Given the description of an element on the screen output the (x, y) to click on. 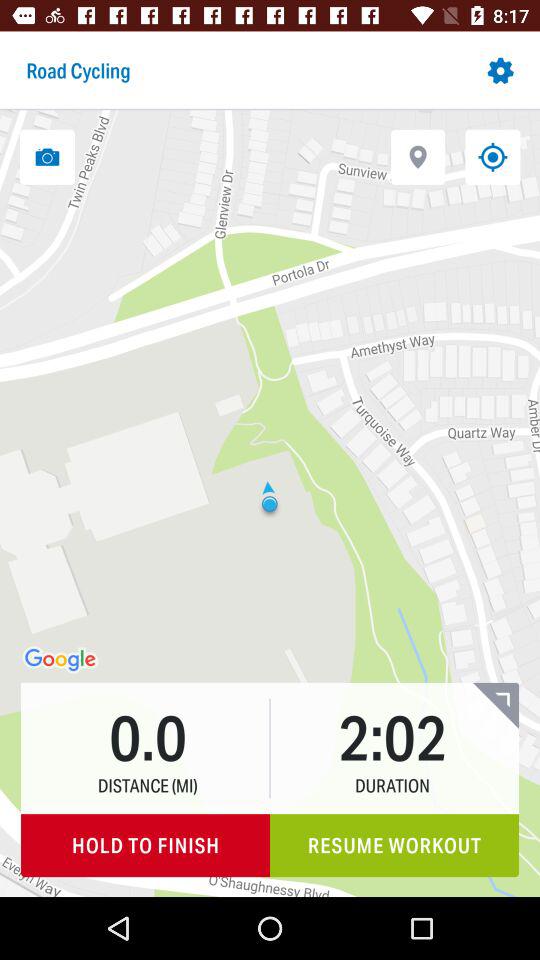
click the settings button on the top right corner of the web page (505, 68)
